Given the description of an element on the screen output the (x, y) to click on. 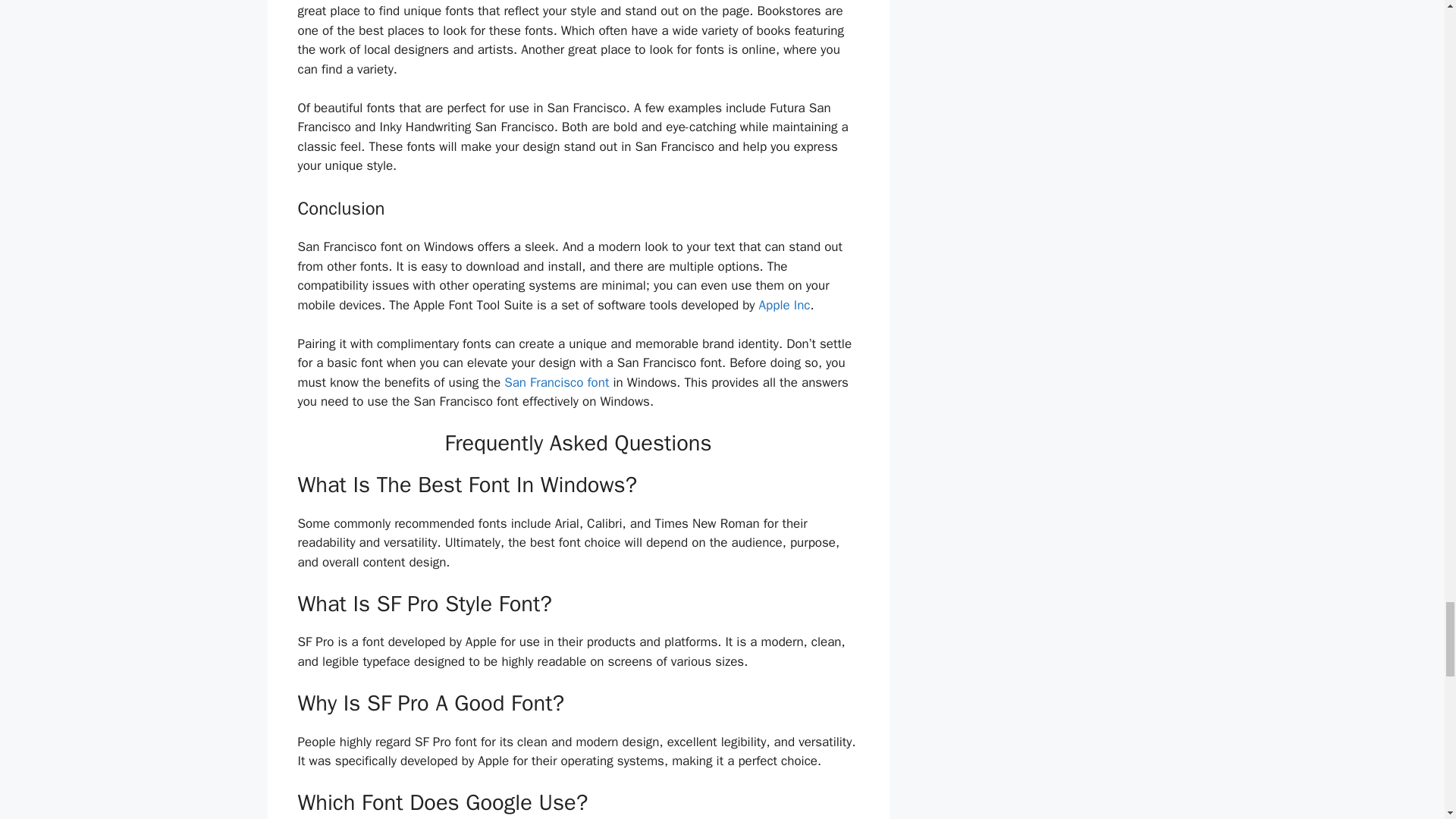
Apple Inc (784, 304)
San Francisco font (554, 382)
